Given the description of an element on the screen output the (x, y) to click on. 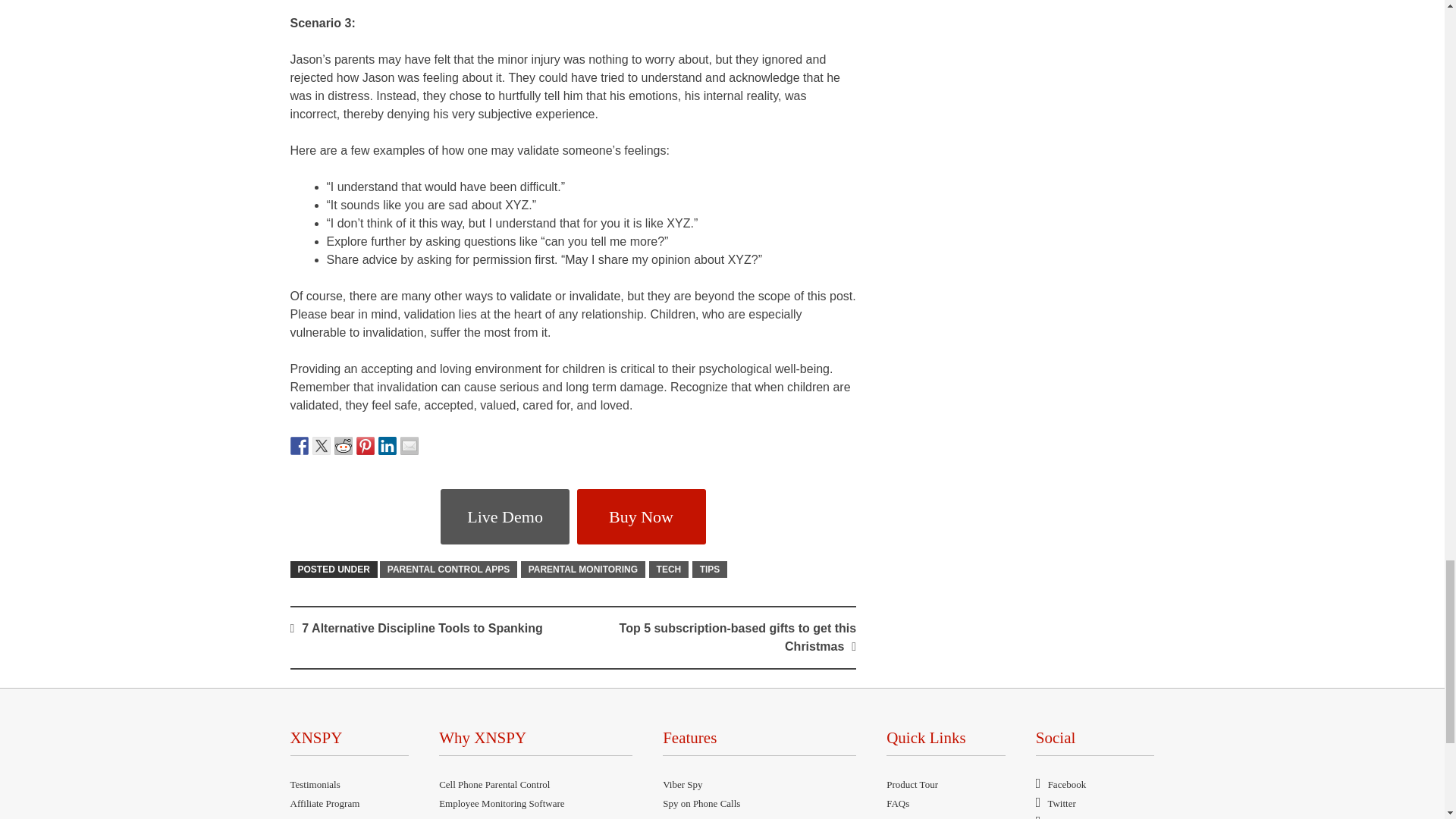
Live Demo (505, 516)
Share on Linkedin (386, 445)
7 Alternative Discipline Tools to Spanking (421, 627)
Buy Now (641, 516)
Pin it with Pinterest (365, 445)
Share on Reddit (342, 445)
Share by email (409, 445)
Share on Twitter (321, 445)
TIPS (710, 569)
TECH (668, 569)
Top 5 subscription-based gifts to get this Christmas (738, 636)
PARENTAL MONITORING (583, 569)
PARENTAL CONTROL APPS (448, 569)
Share on Facebook (298, 445)
